Given the description of an element on the screen output the (x, y) to click on. 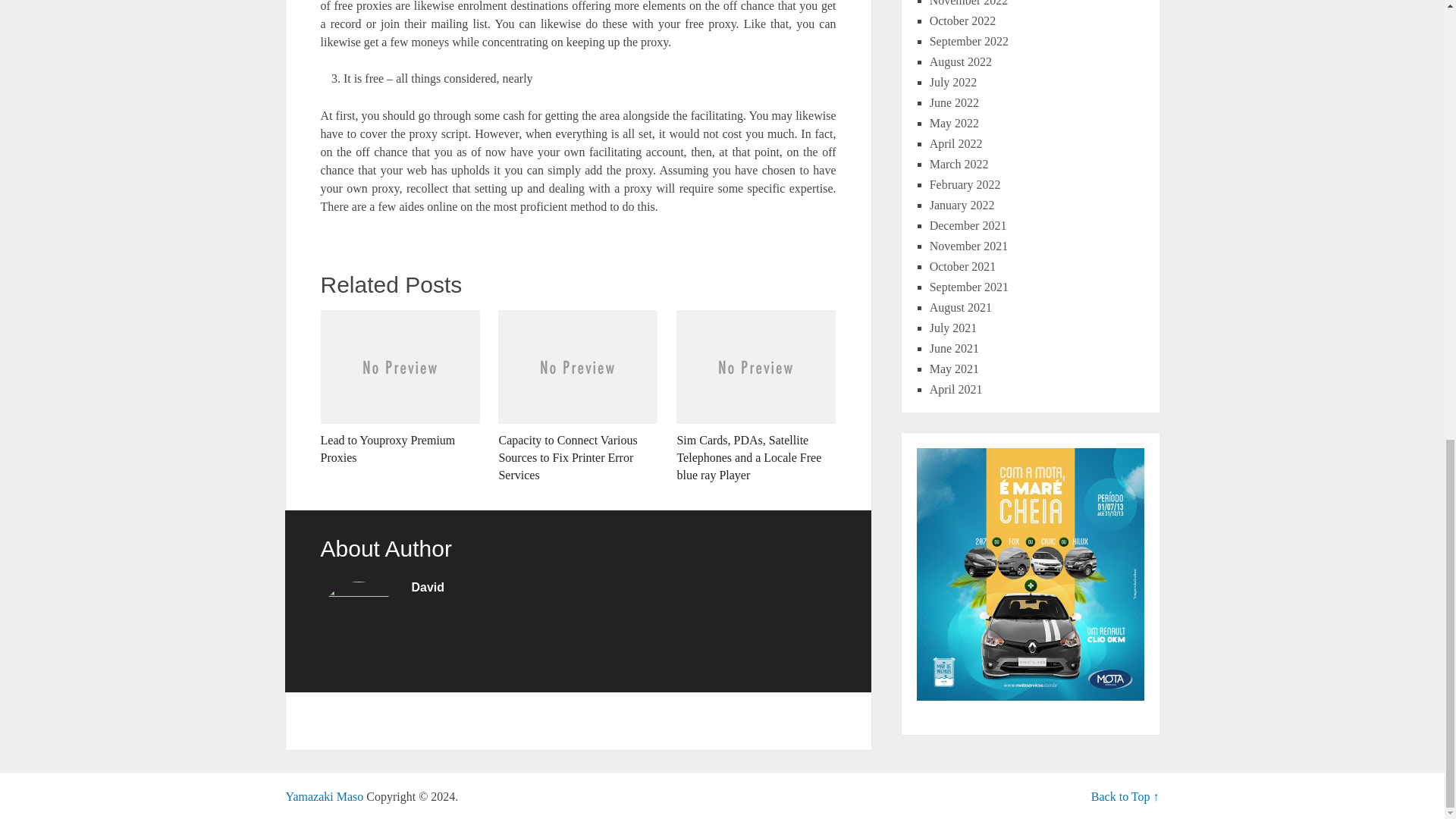
Lead to Youproxy Premium Proxies (399, 388)
Lead to Youproxy Premium Proxies (399, 388)
